Given the description of an element on the screen output the (x, y) to click on. 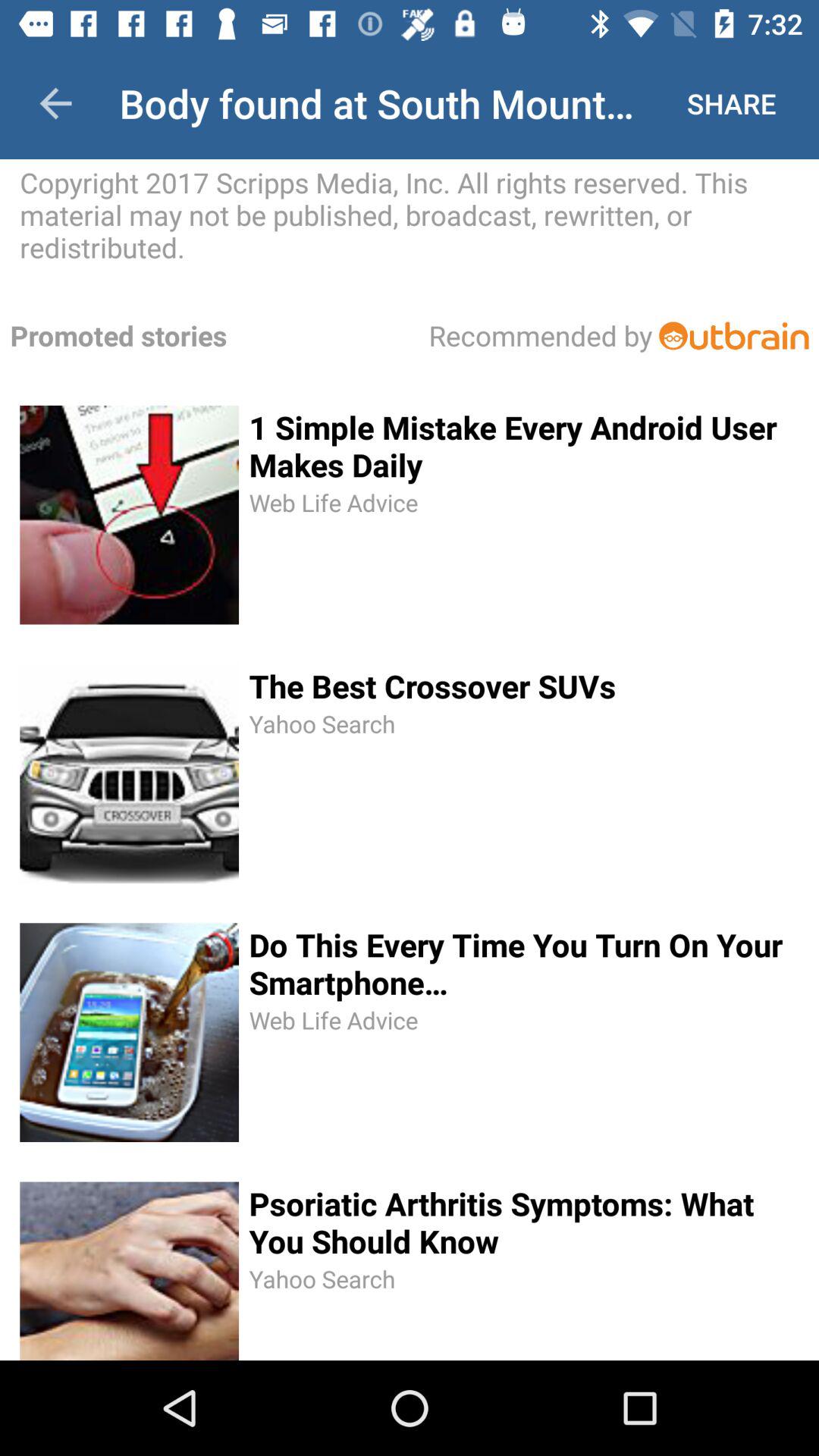
navigate to website (733, 335)
